Given the description of an element on the screen output the (x, y) to click on. 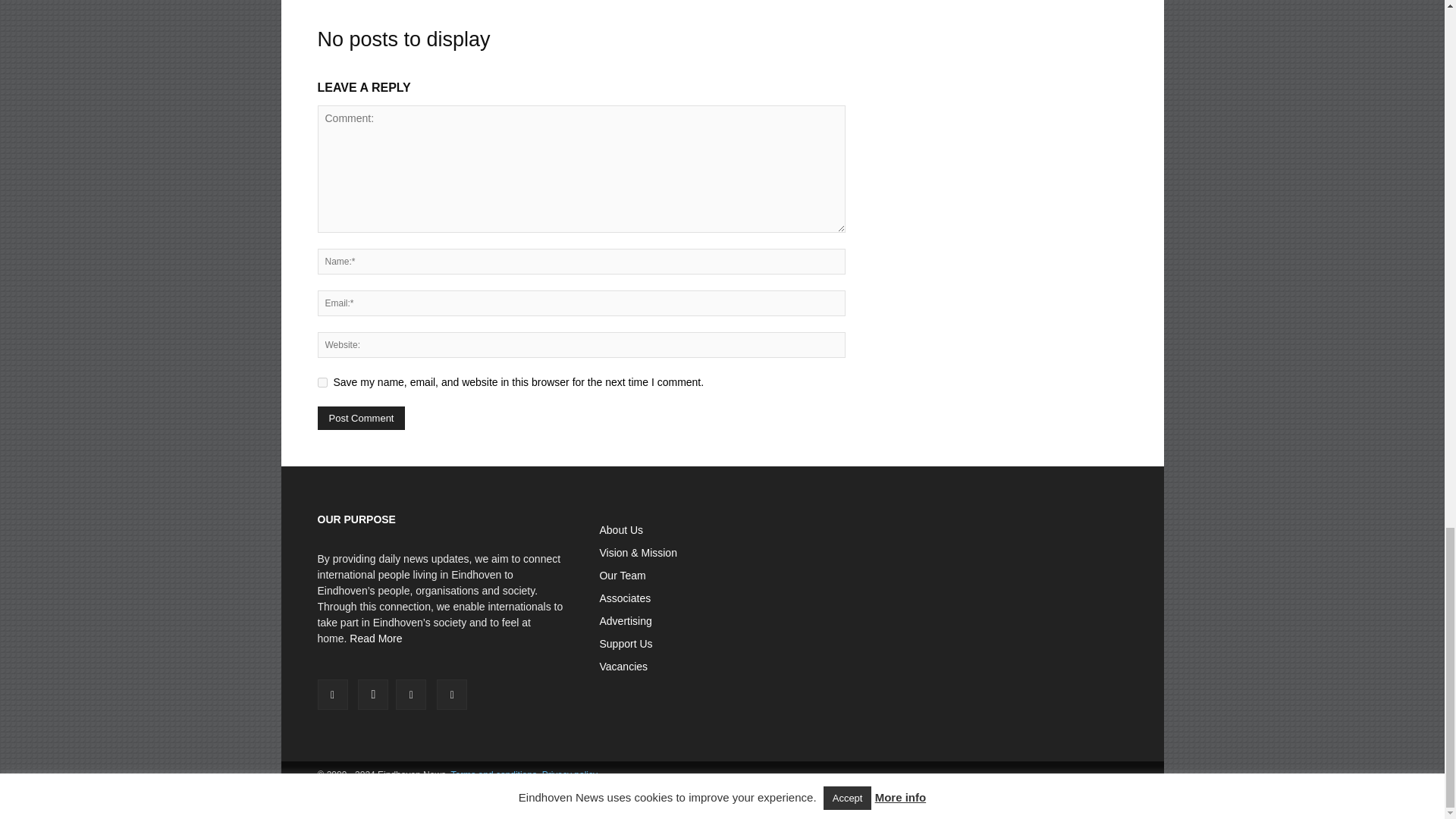
Post Comment (360, 417)
yes (321, 382)
